Given the description of an element on the screen output the (x, y) to click on. 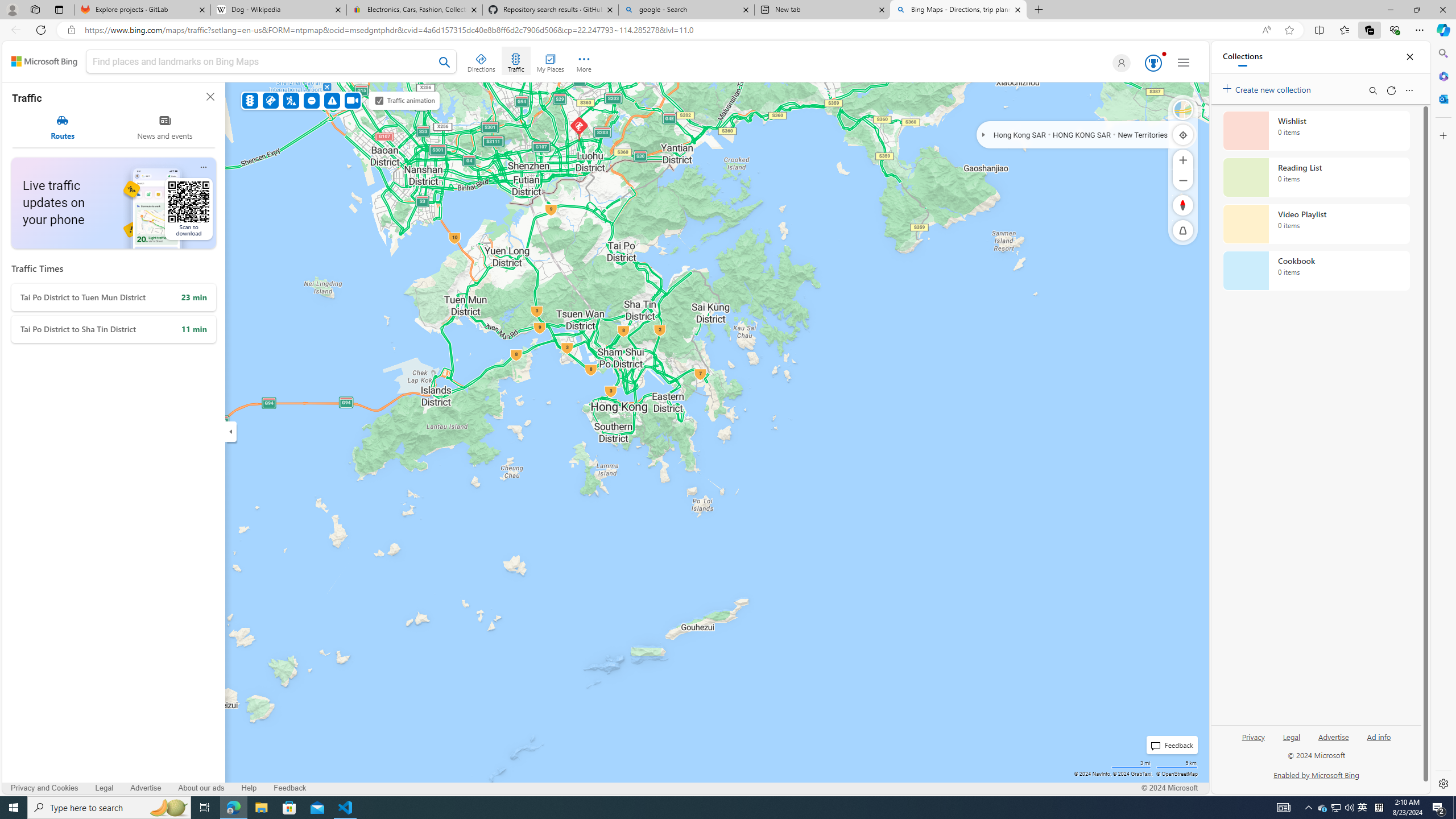
Road (1182, 109)
Settings and quick links (1183, 62)
Accidents (270, 100)
Tai Po District to Sha Tin District (113, 329)
Privacy and Cookies (44, 787)
Routes (62, 127)
